Given the description of an element on the screen output the (x, y) to click on. 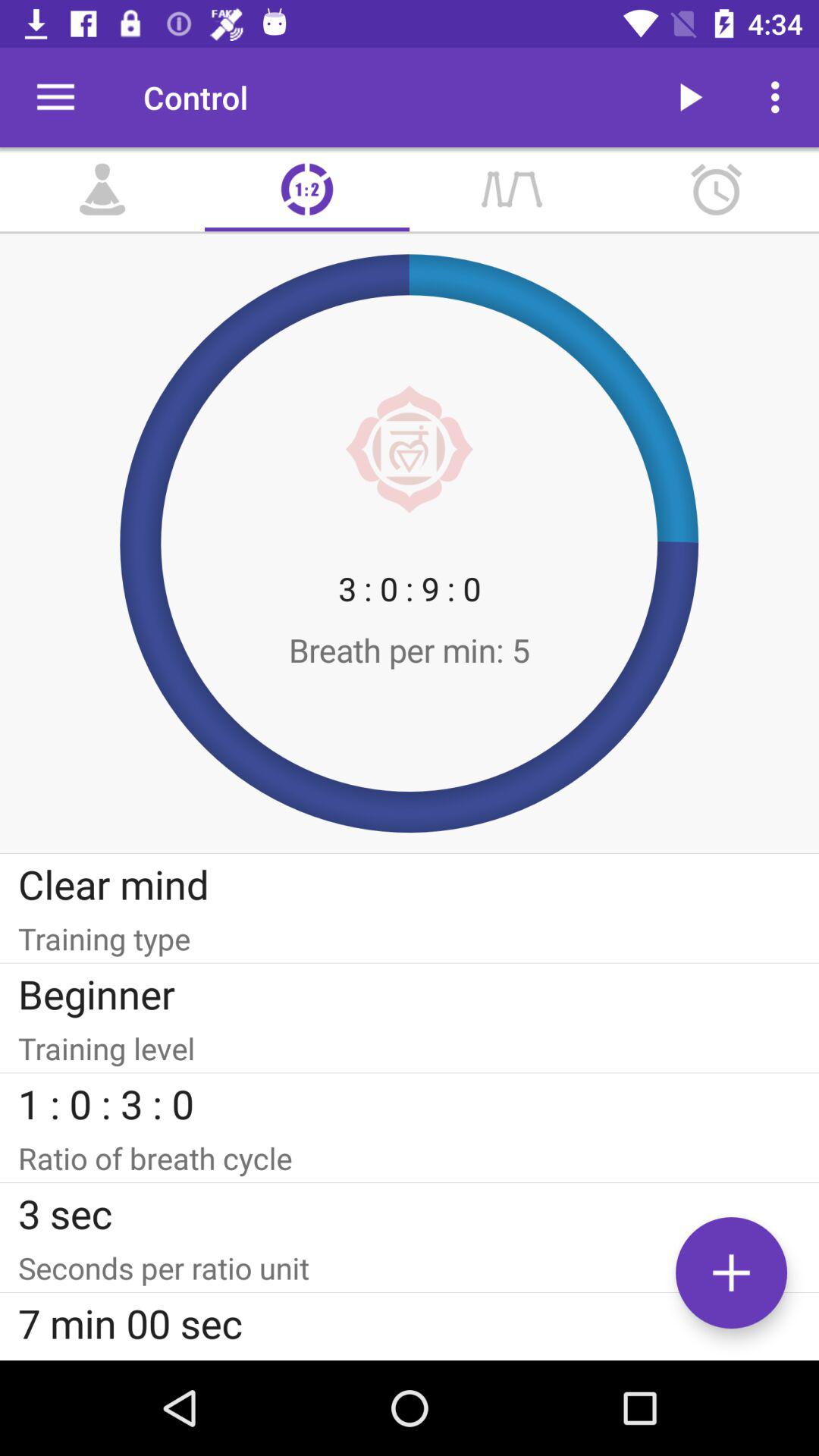
launch item below the training type (409, 993)
